Given the description of an element on the screen output the (x, y) to click on. 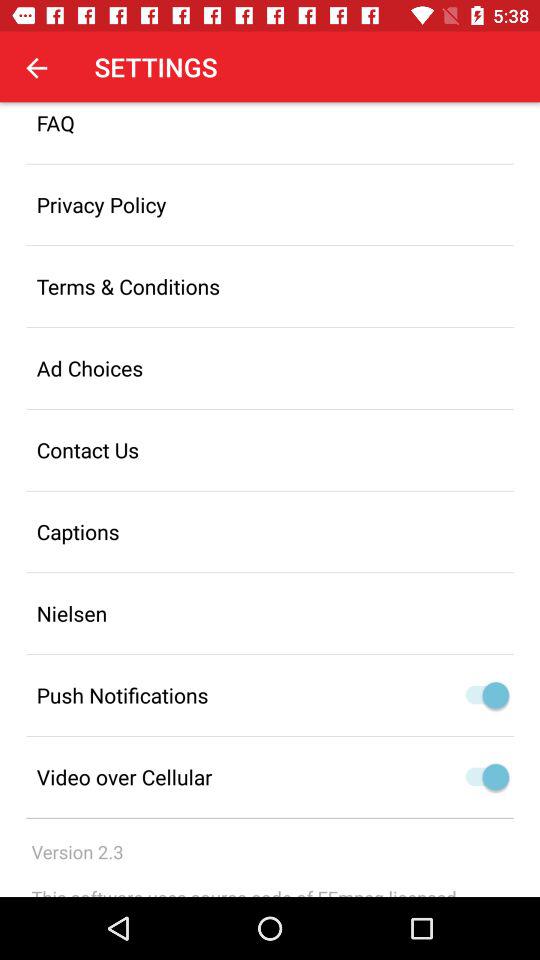
launch the item below the faq item (270, 204)
